Given the description of an element on the screen output the (x, y) to click on. 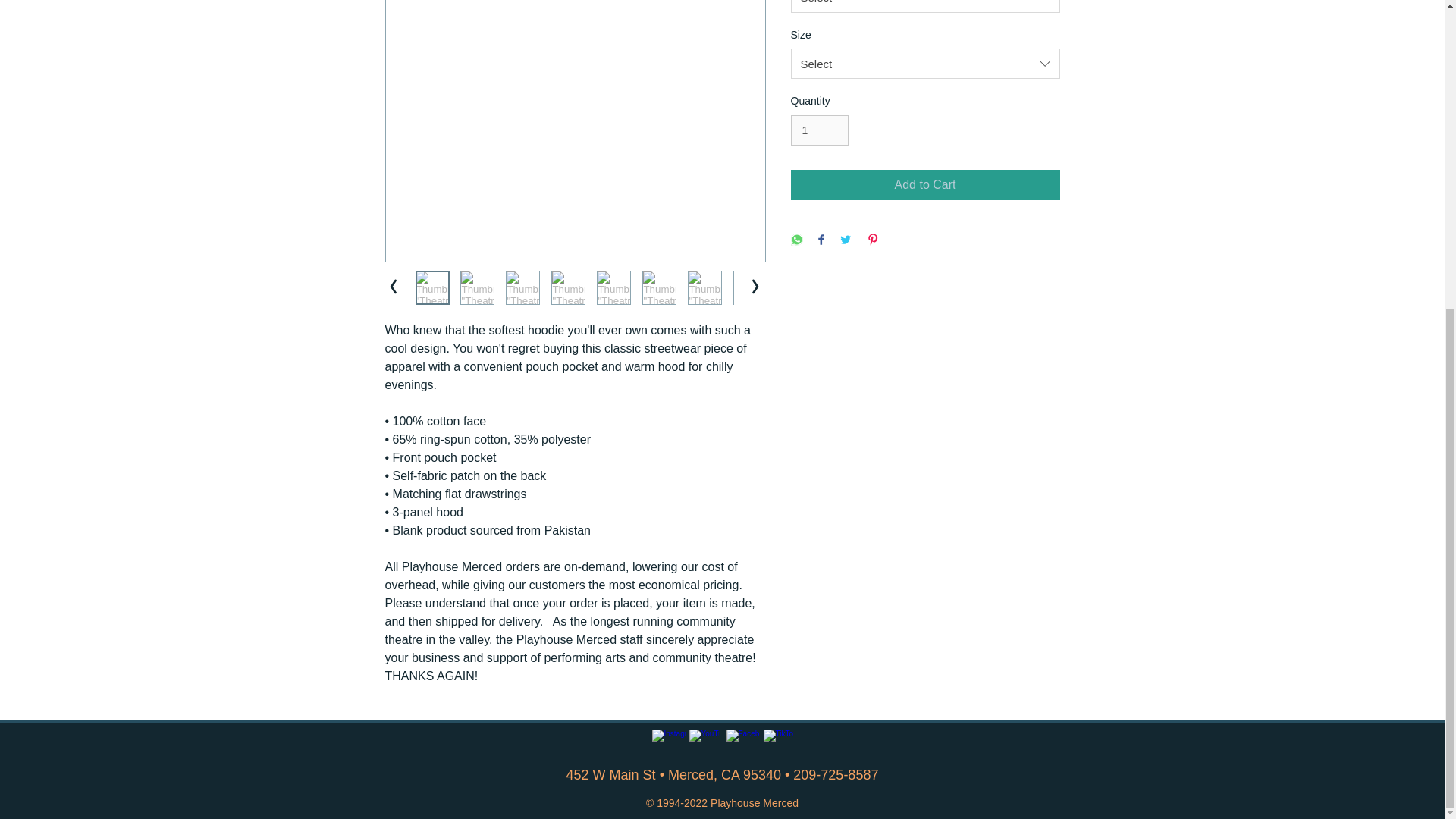
Select (924, 6)
Select (924, 63)
Add to Cart (924, 184)
1 (818, 130)
